Given the description of an element on the screen output the (x, y) to click on. 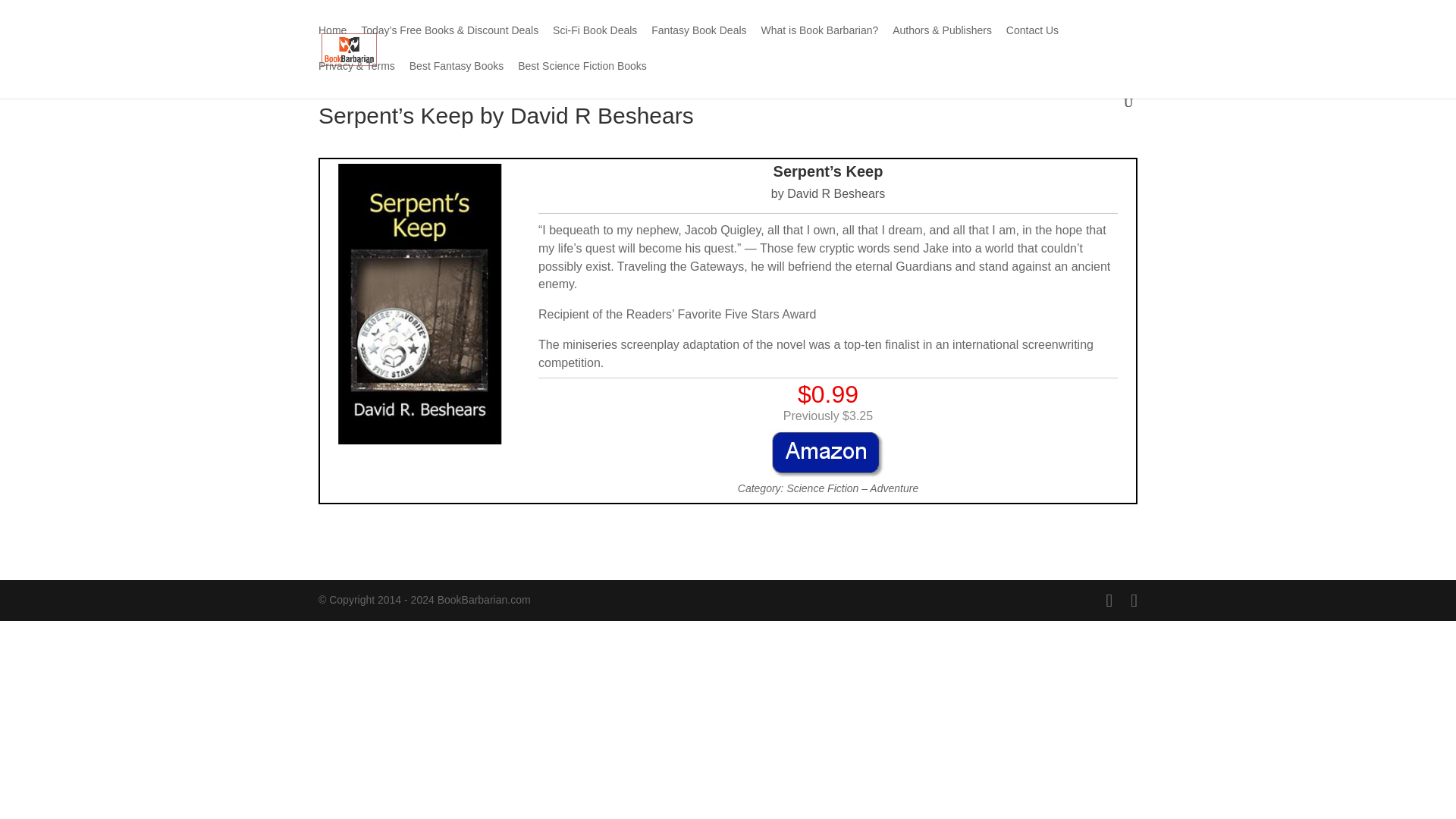
Best Science Fiction Books (582, 78)
Sci-Fi Book Deals (595, 42)
Contact Us (1032, 42)
Fantasy Book Deals (697, 42)
Best Fantasy Books (456, 78)
What is Book Barbarian? (818, 42)
